Given the description of an element on the screen output the (x, y) to click on. 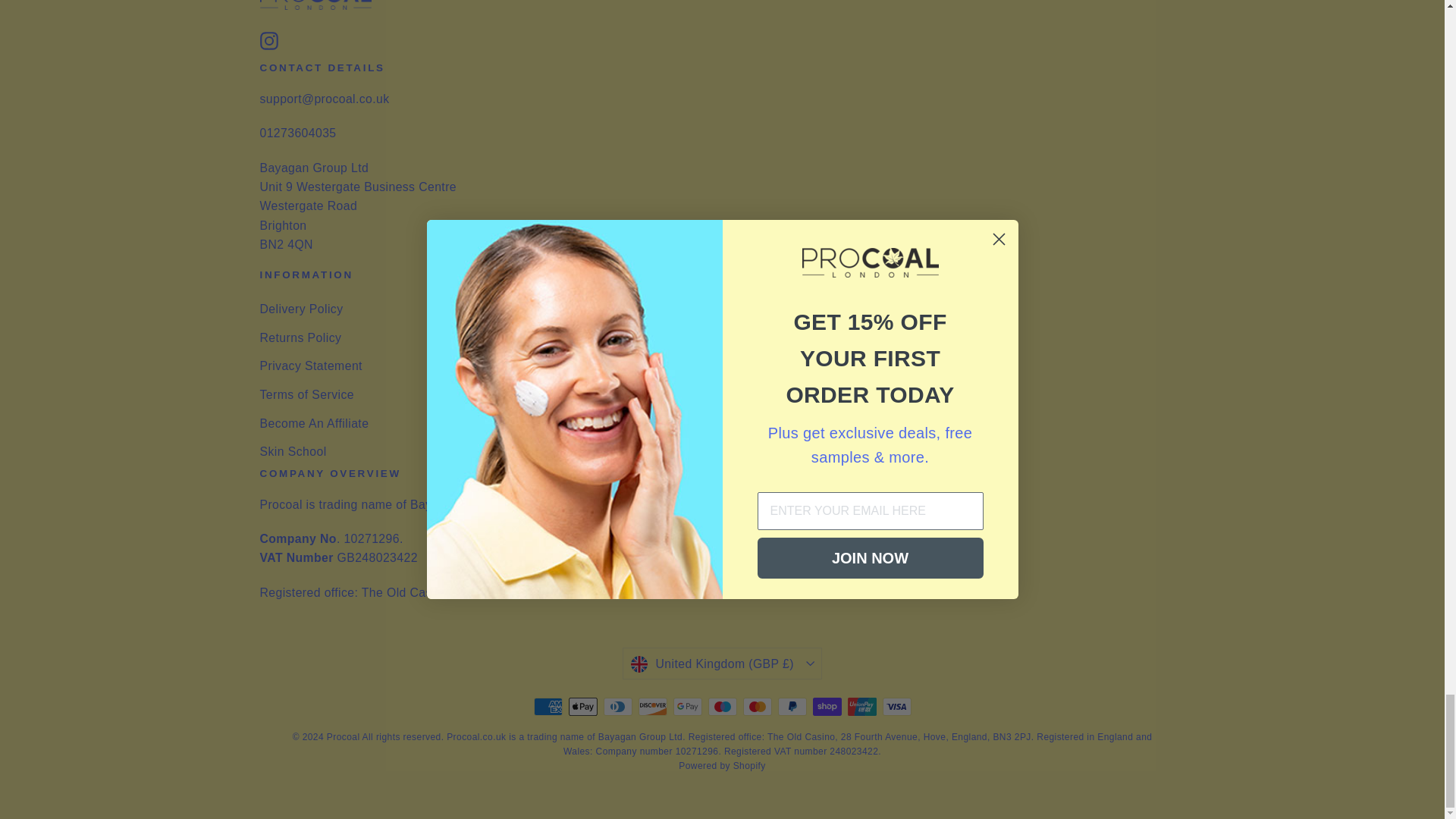
Visa (896, 706)
American Express (548, 706)
Apple Pay (582, 706)
Diners Club (617, 706)
Shop Pay (826, 706)
Union Pay (861, 706)
Procoal on Instagram (268, 40)
Google Pay (686, 706)
Mastercard (756, 706)
PayPal (791, 706)
Maestro (721, 706)
Discover (652, 706)
